Given the description of an element on the screen output the (x, y) to click on. 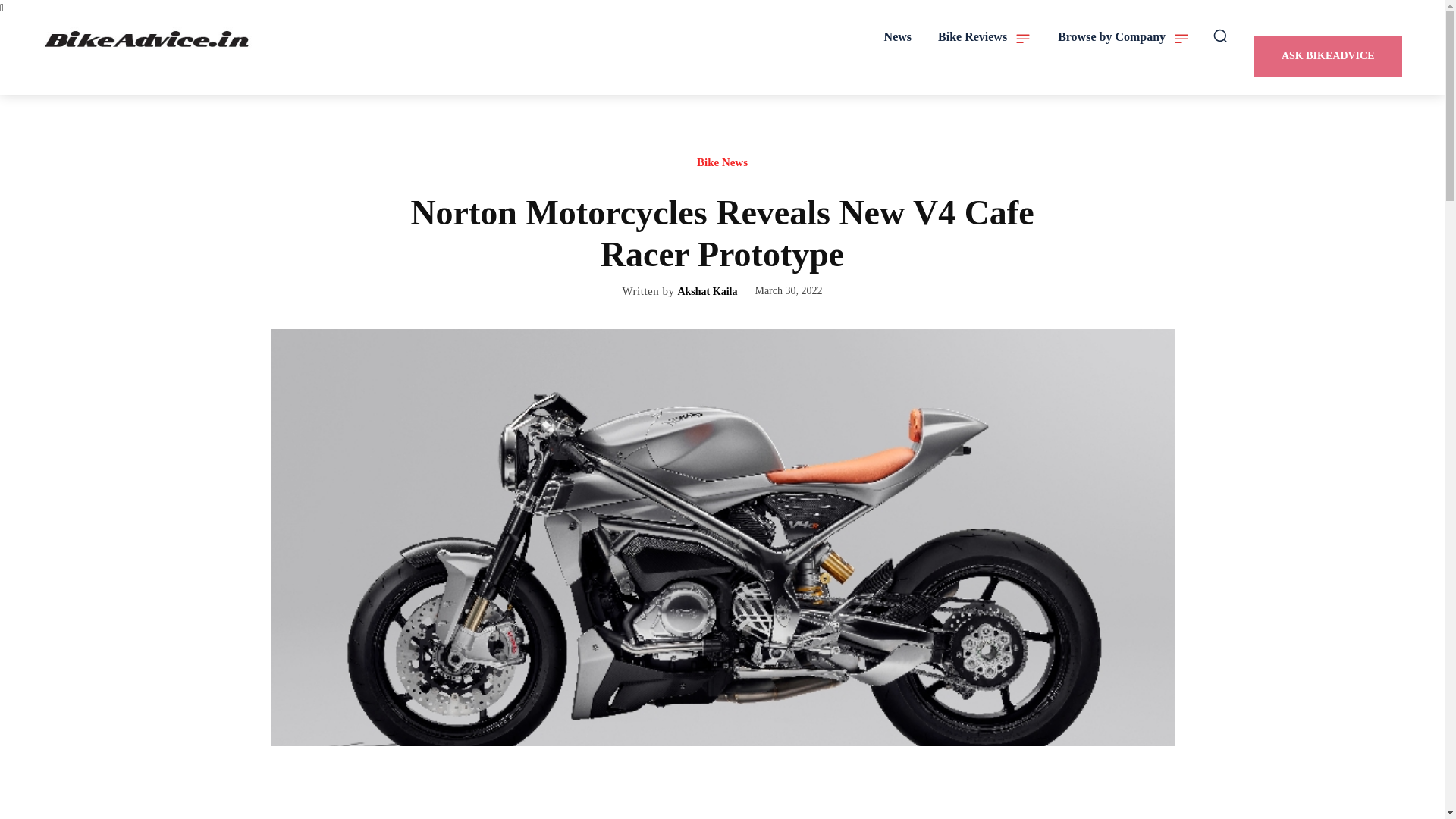
Ask BikeAdvice (1327, 56)
Latest Bike News, Reviews, Spy Pics (148, 38)
Browse by Company (1123, 36)
Bike Reviews (984, 36)
